Given the description of an element on the screen output the (x, y) to click on. 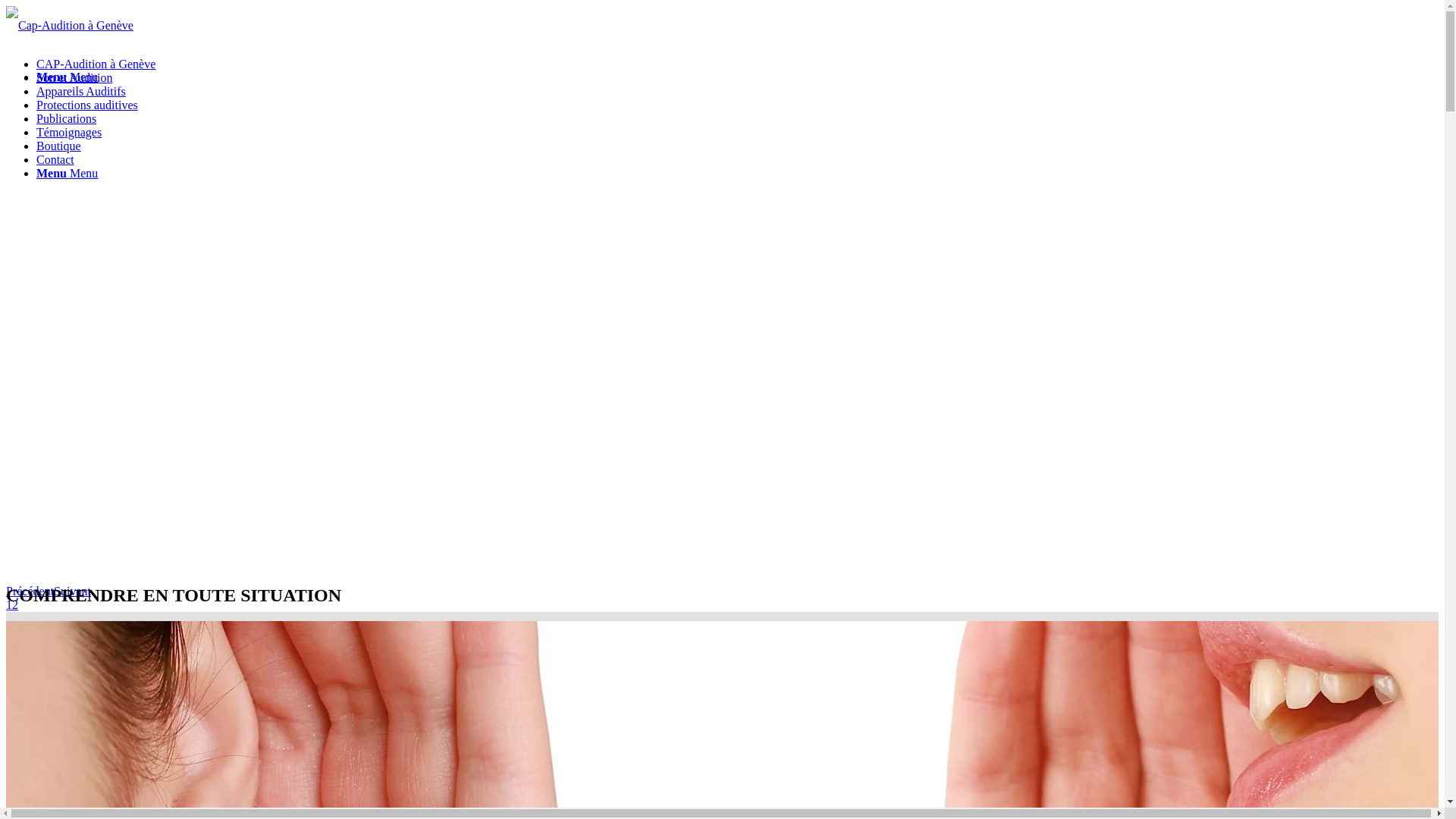
Boutique Element type: text (58, 145)
Menu Menu Element type: text (66, 76)
Menu Menu Element type: text (66, 172)
2 Element type: text (15, 604)
Publications Element type: text (66, 118)
Son et Audition Element type: text (74, 77)
Suivant Element type: text (72, 590)
Protections auditives Element type: text (87, 104)
Appareils Auditifs Element type: text (80, 90)
1 Element type: text (9, 604)
Contact Element type: text (55, 159)
